Given the description of an element on the screen output the (x, y) to click on. 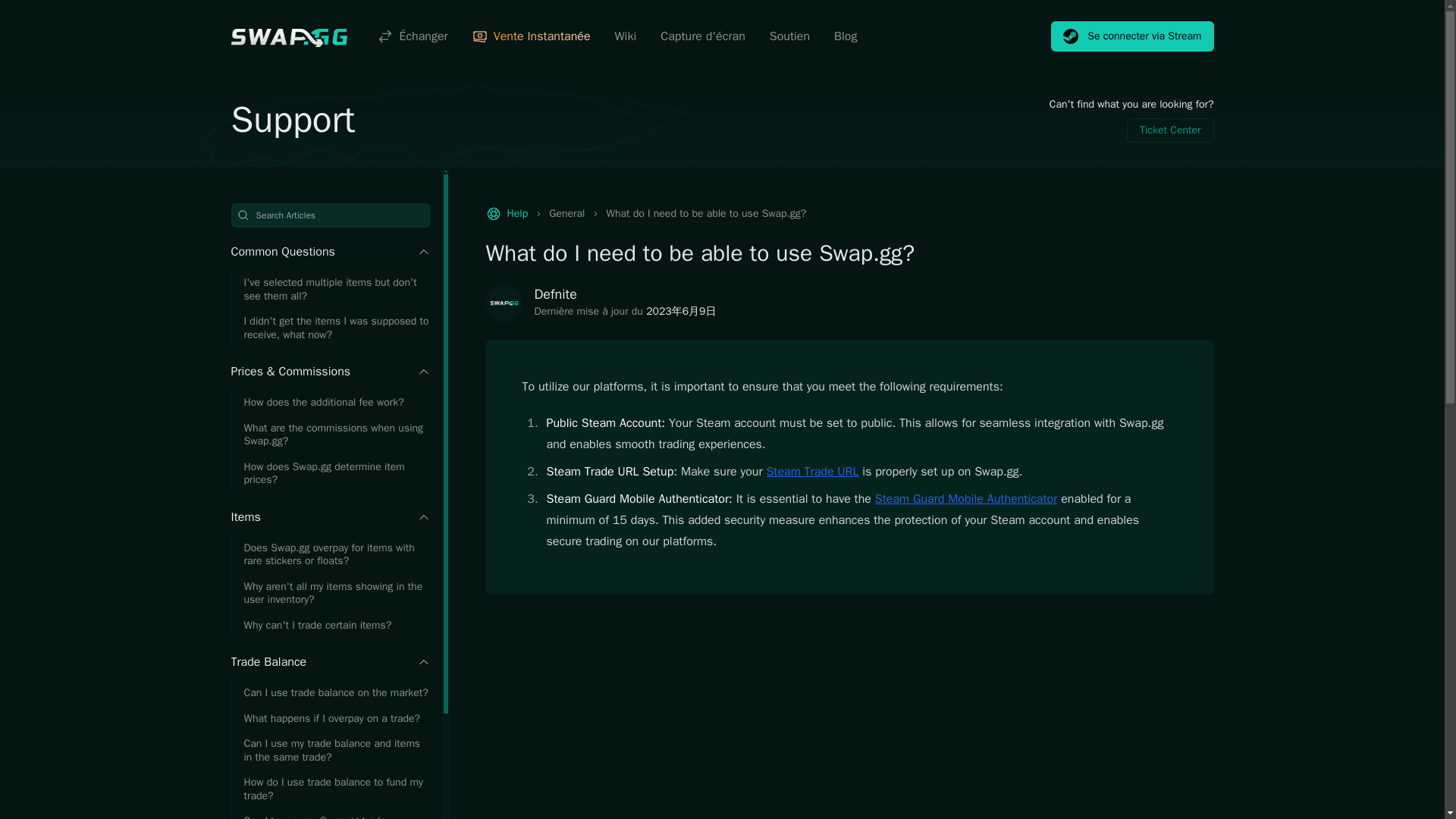
Common Questions (329, 251)
Why aren't all my items showing in the user inventory? (329, 592)
Can I use trade balance on the market? (329, 692)
Items (329, 517)
Trade Balance (329, 662)
I've selected multiple items but don't see them all? (329, 289)
Does Swap.gg overpay for items with rare stickers or floats? (329, 554)
Soutien (788, 36)
How does the additional fee work? (329, 402)
Ticket Center (1170, 129)
